Given the description of an element on the screen output the (x, y) to click on. 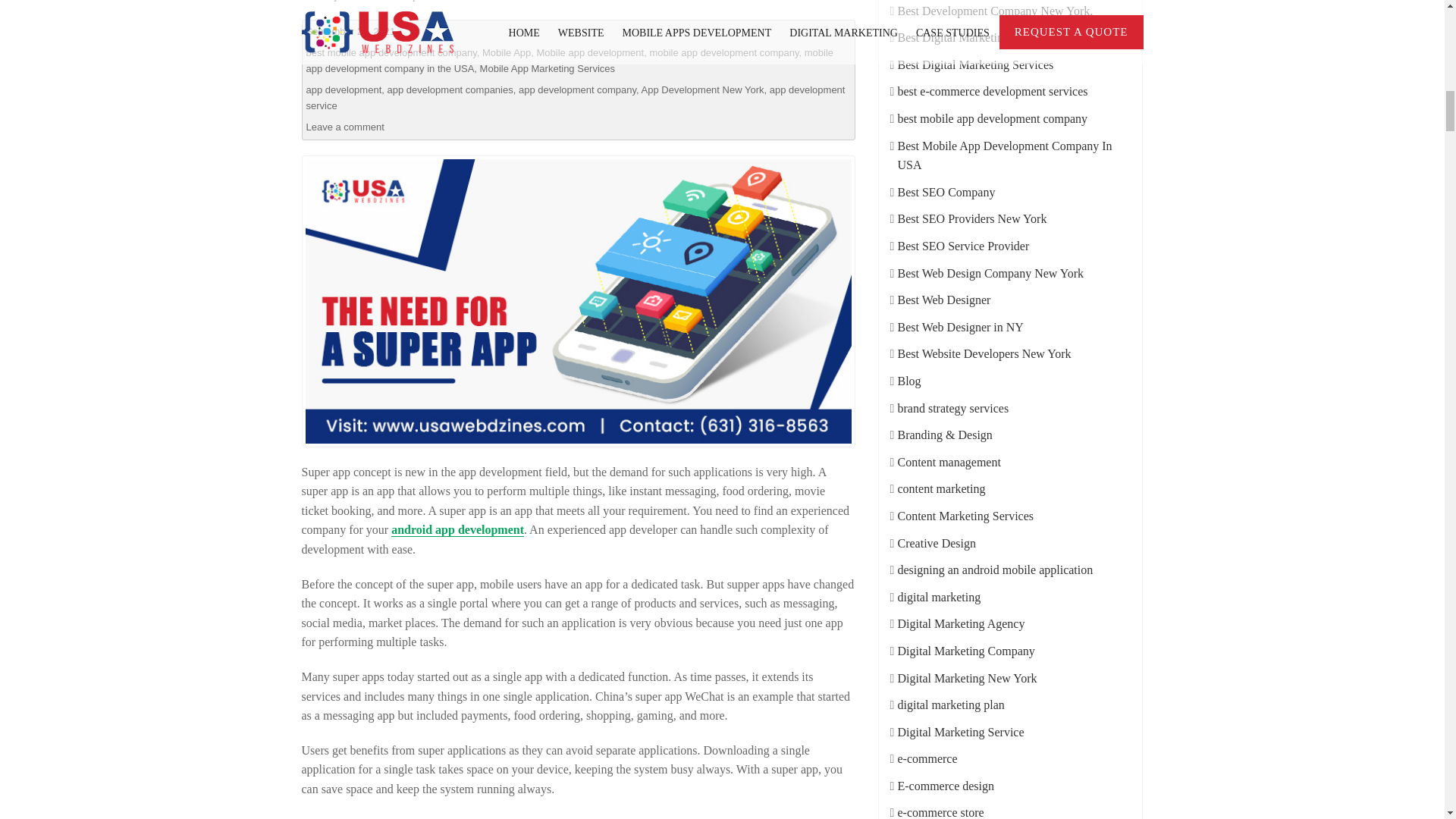
mobile app development company (723, 52)
Mobile App (506, 52)
app development service (575, 97)
android app development (457, 529)
app development (343, 89)
Mobile App Marketing Services (547, 68)
app development companies (449, 89)
app development company (577, 89)
September 28, 2021 (350, 30)
mobile app development company in the USA (569, 60)
App Development New York (703, 89)
Mobile app development (591, 52)
best mobile app development company (391, 52)
